Given the description of an element on the screen output the (x, y) to click on. 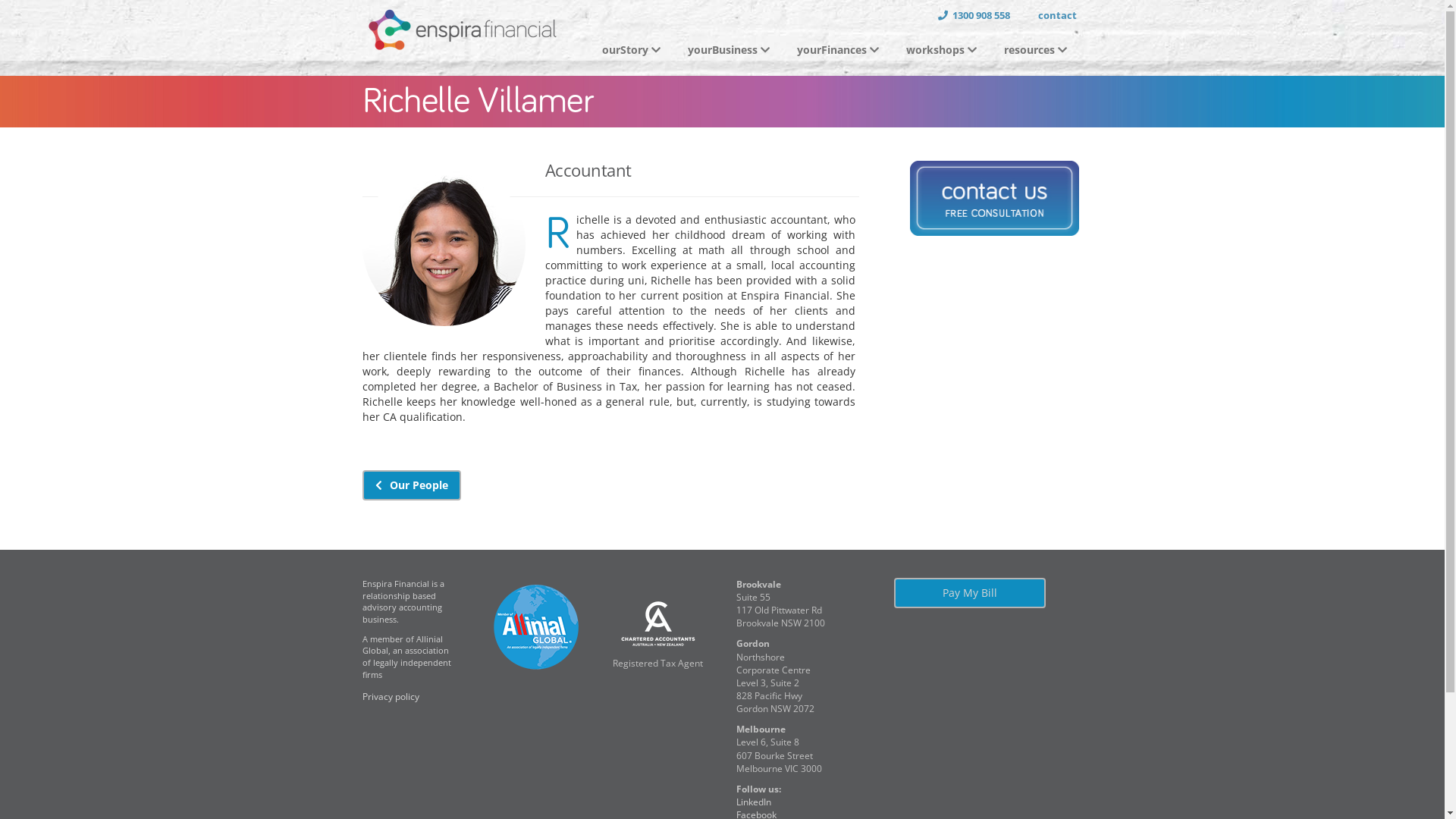
workshops Element type: text (942, 49)
1300 908 558 Element type: text (973, 14)
resources Element type: text (1037, 49)
yourBusiness Element type: text (730, 49)
ourStory Element type: text (633, 49)
contact Element type: text (1049, 14)
Privacy policy Element type: text (390, 702)
Our People Element type: text (411, 485)
Pay My Bill Element type: text (969, 592)
yourFinances Element type: text (839, 49)
